Given the description of an element on the screen output the (x, y) to click on. 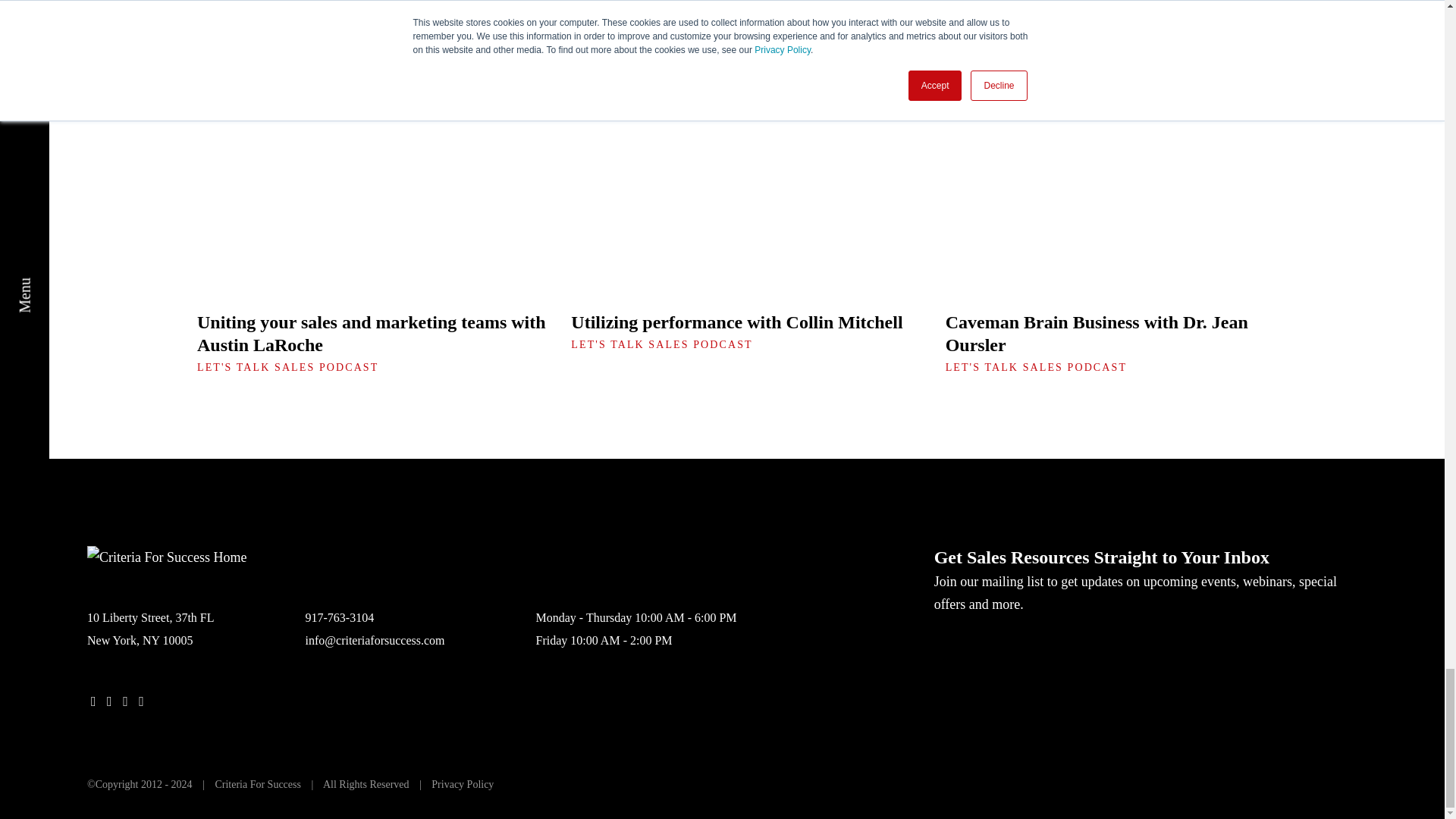
Form 1 (1145, 682)
